Given the description of an element on the screen output the (x, y) to click on. 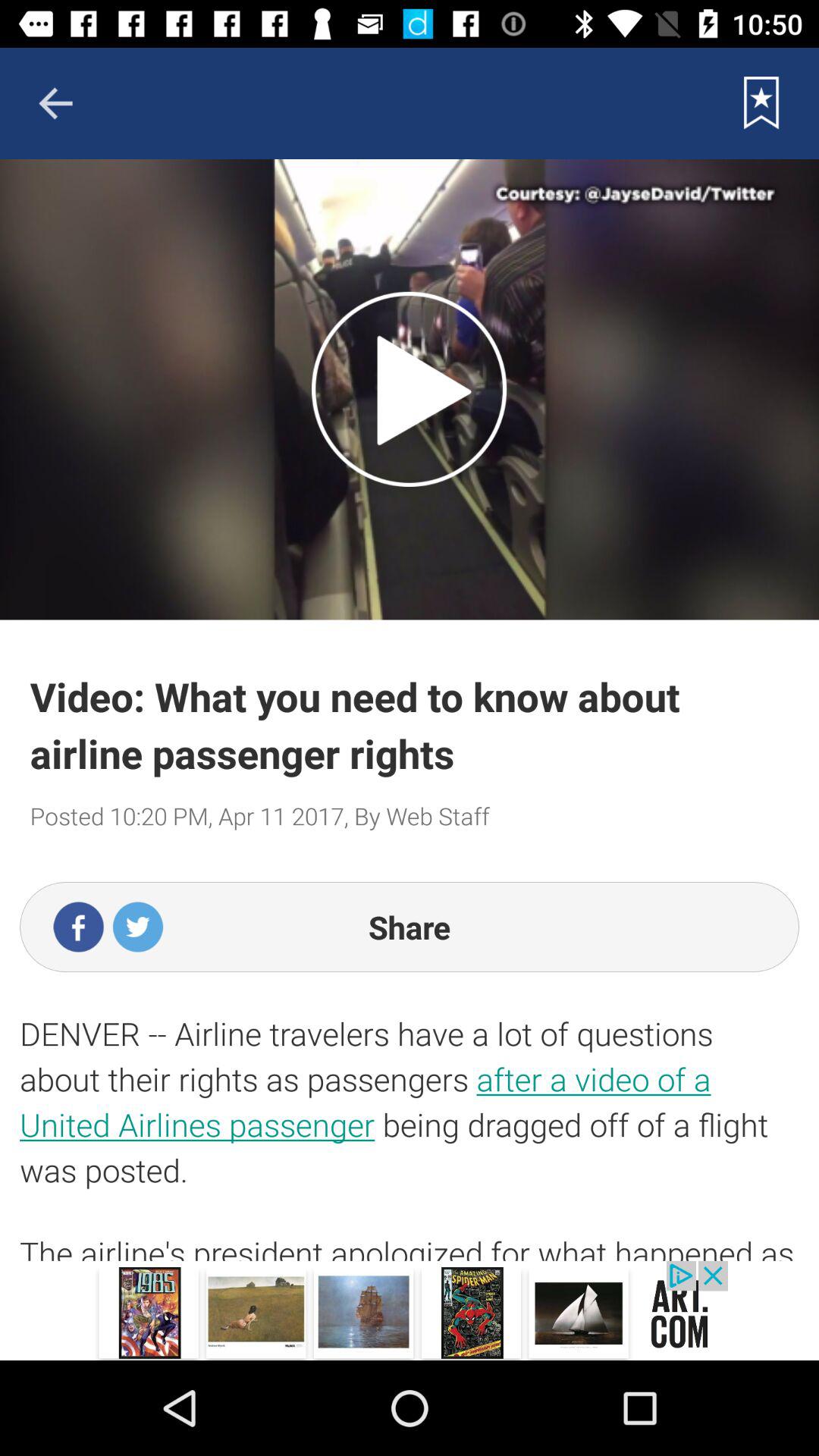
bookmark video (761, 102)
